Given the description of an element on the screen output the (x, y) to click on. 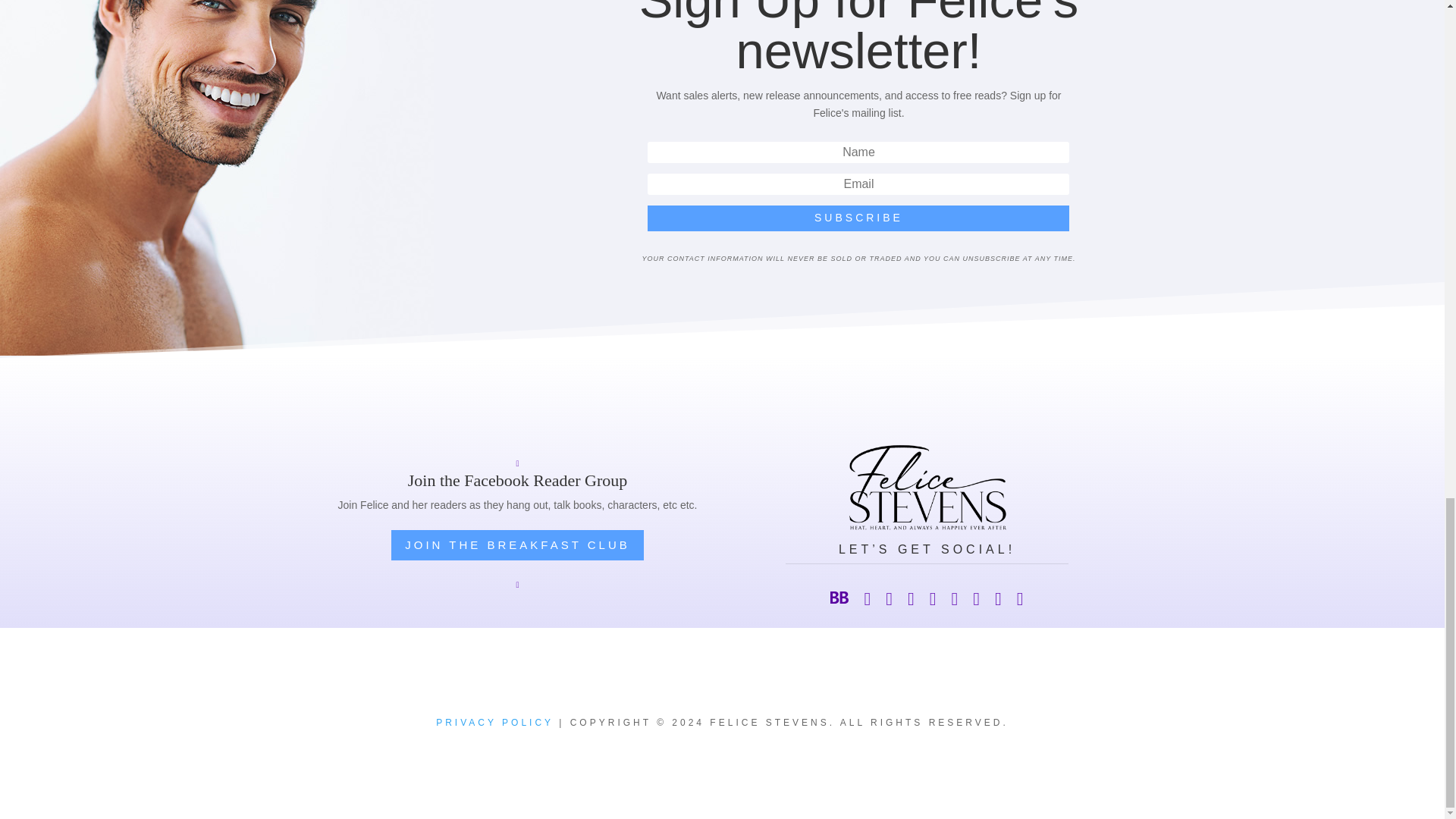
JOIN THE BREAKFAST CLUB (517, 545)
SUBSCRIBE (857, 217)
Felice Stevens (926, 488)
